Given the description of an element on the screen output the (x, y) to click on. 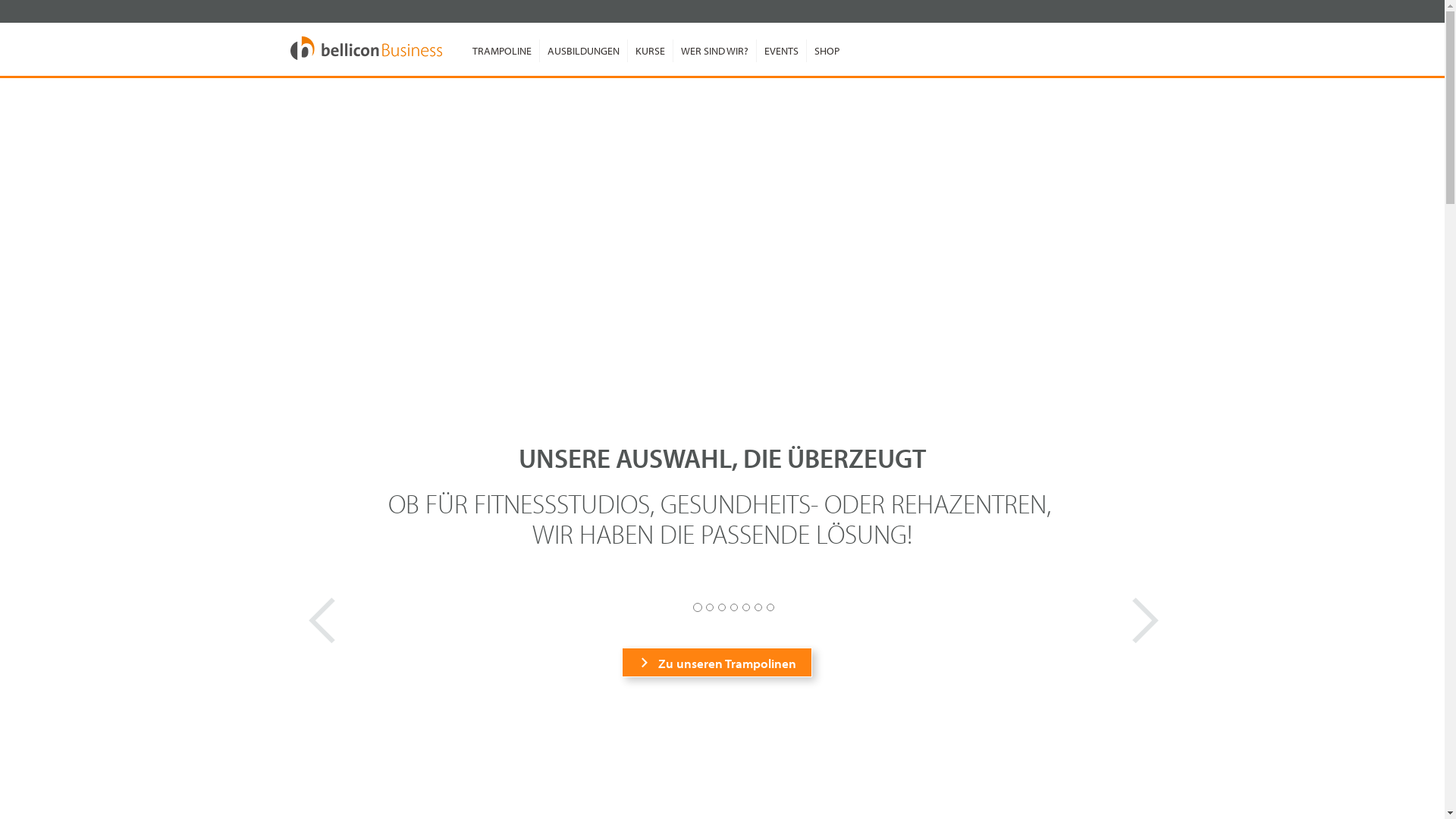
KURSE Element type: text (648, 50)
SHOP Element type: text (825, 50)
TRAMPOLINE Element type: text (501, 50)
Zu unseren Trampolinen Element type: text (716, 662)
WER SIND WIR? Element type: text (713, 50)
bellicon.business Element type: hover (365, 47)
AUSBILDUNGEN Element type: text (582, 50)
EVENTS Element type: text (780, 50)
